Given the description of an element on the screen output the (x, y) to click on. 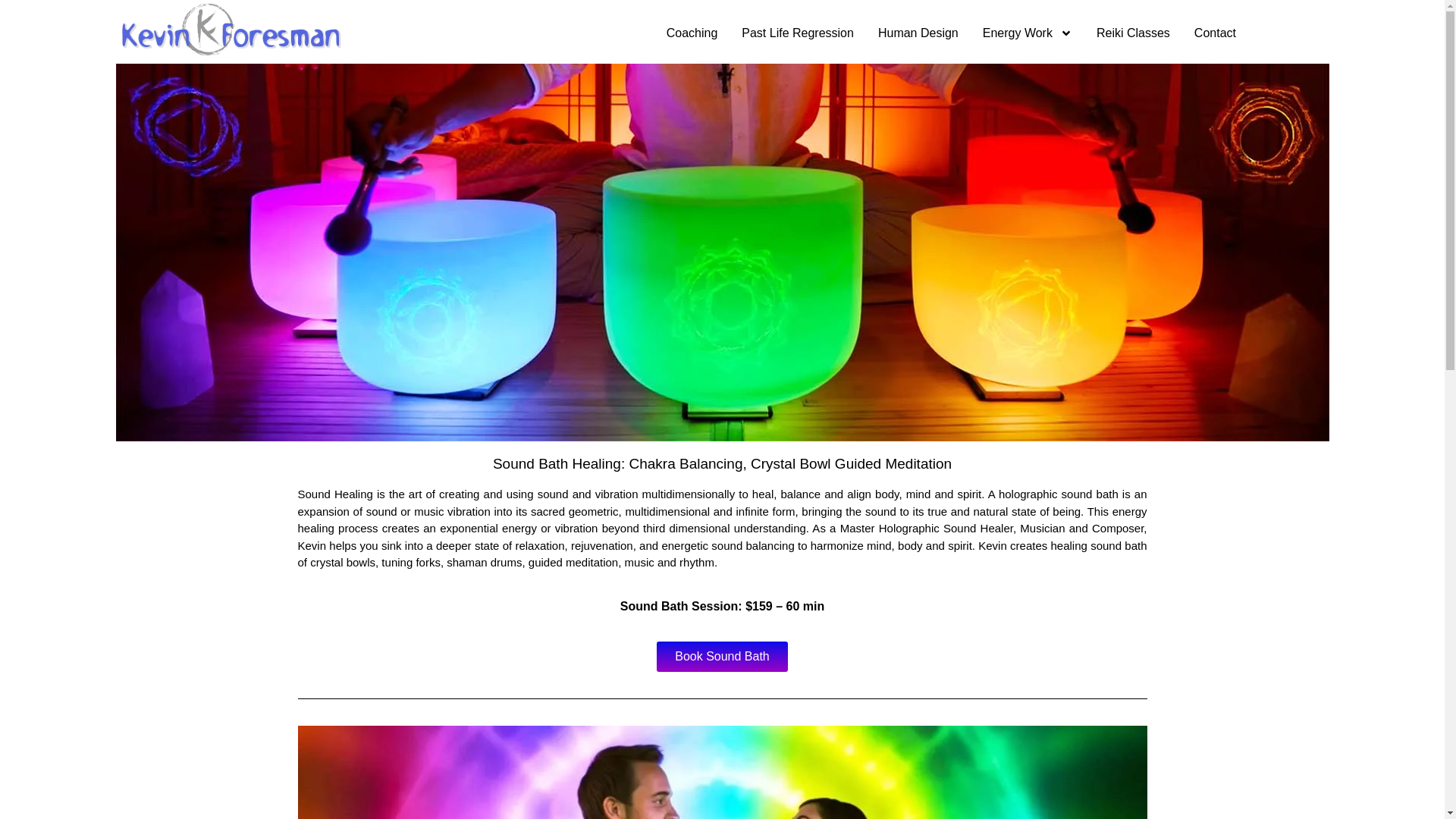
Reiki Classes (1133, 32)
Contact (1214, 32)
Book Sound Bath (721, 656)
Energy Work (1027, 32)
Human Design (918, 32)
Past Life Regression (797, 32)
Coaching (691, 32)
